Given the description of an element on the screen output the (x, y) to click on. 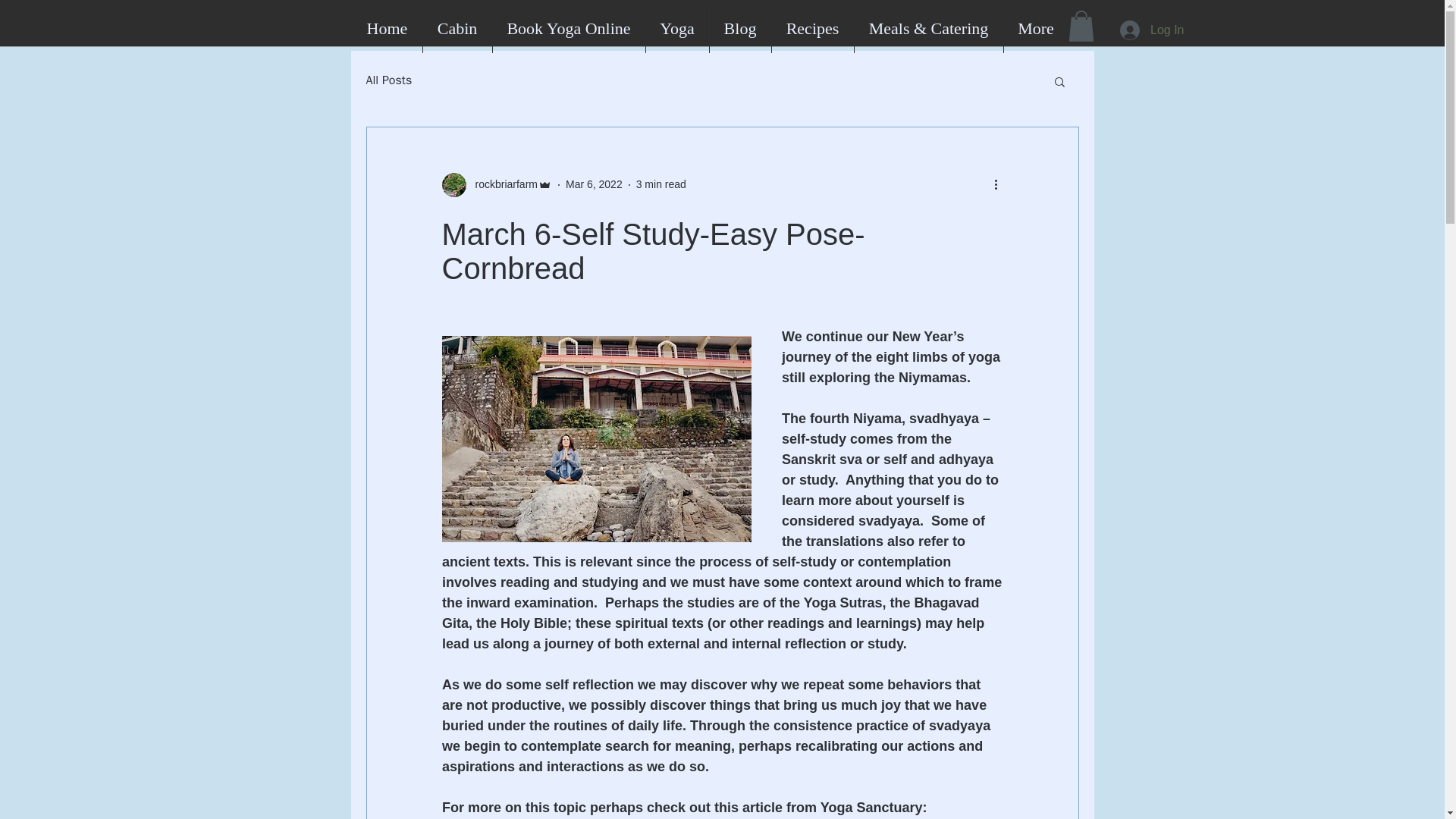
Yoga (677, 28)
Book Yoga Online (569, 28)
rockbriarfarm (496, 184)
rockbriarfarm (501, 184)
Blog (740, 28)
Home (387, 28)
Cabin (457, 28)
Log In (1151, 30)
Mar 6, 2022 (594, 184)
Recipes (812, 28)
All Posts (388, 80)
3 min read (660, 184)
